Given the description of an element on the screen output the (x, y) to click on. 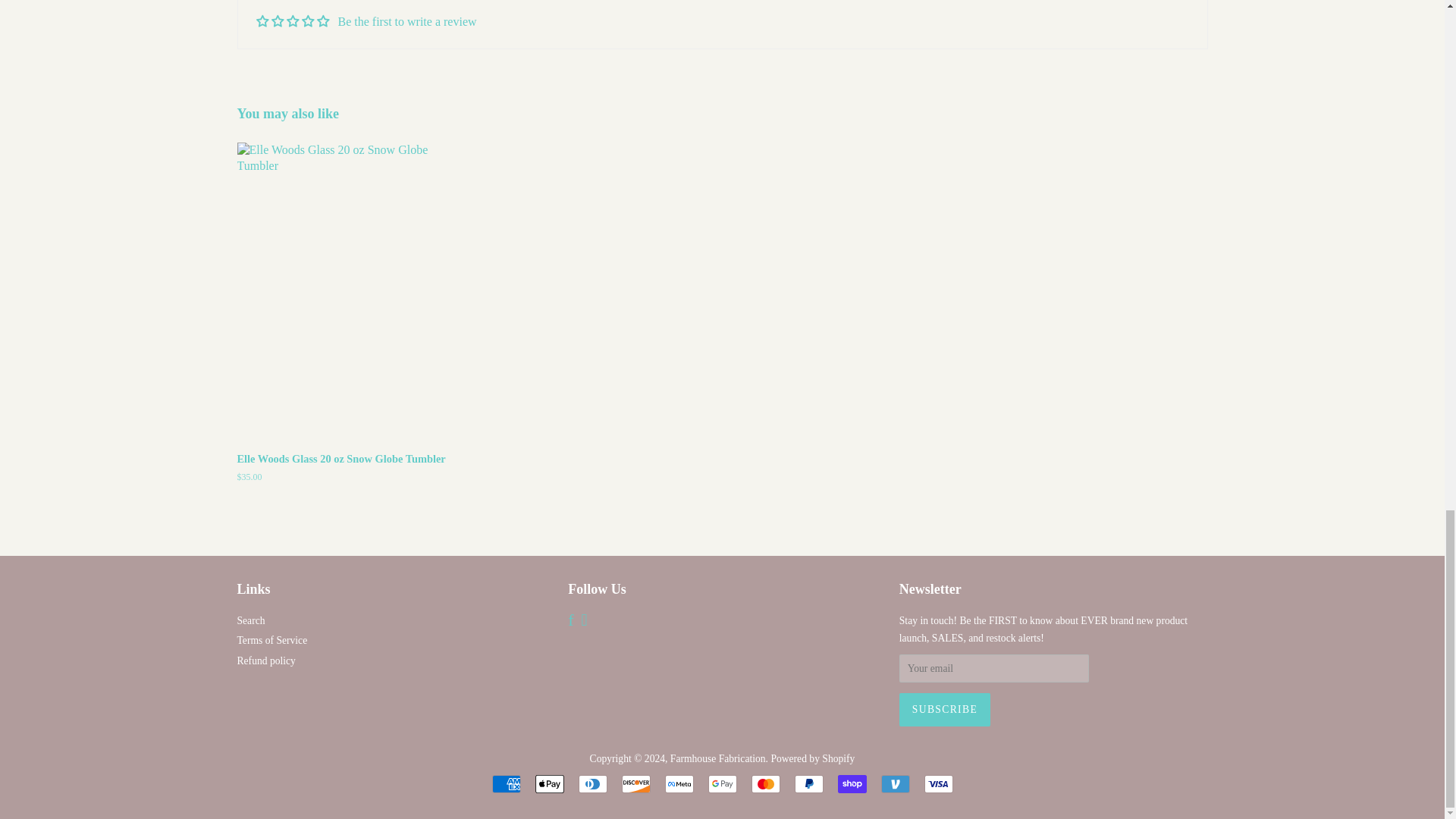
Apple Pay (549, 783)
Mastercard (764, 783)
Shop Pay (851, 783)
American Express (505, 783)
Visa (937, 783)
Diners Club (592, 783)
Google Pay (721, 783)
Meta Pay (678, 783)
Venmo (895, 783)
PayPal (809, 783)
Subscribe (944, 709)
Discover (635, 783)
